Given the description of an element on the screen output the (x, y) to click on. 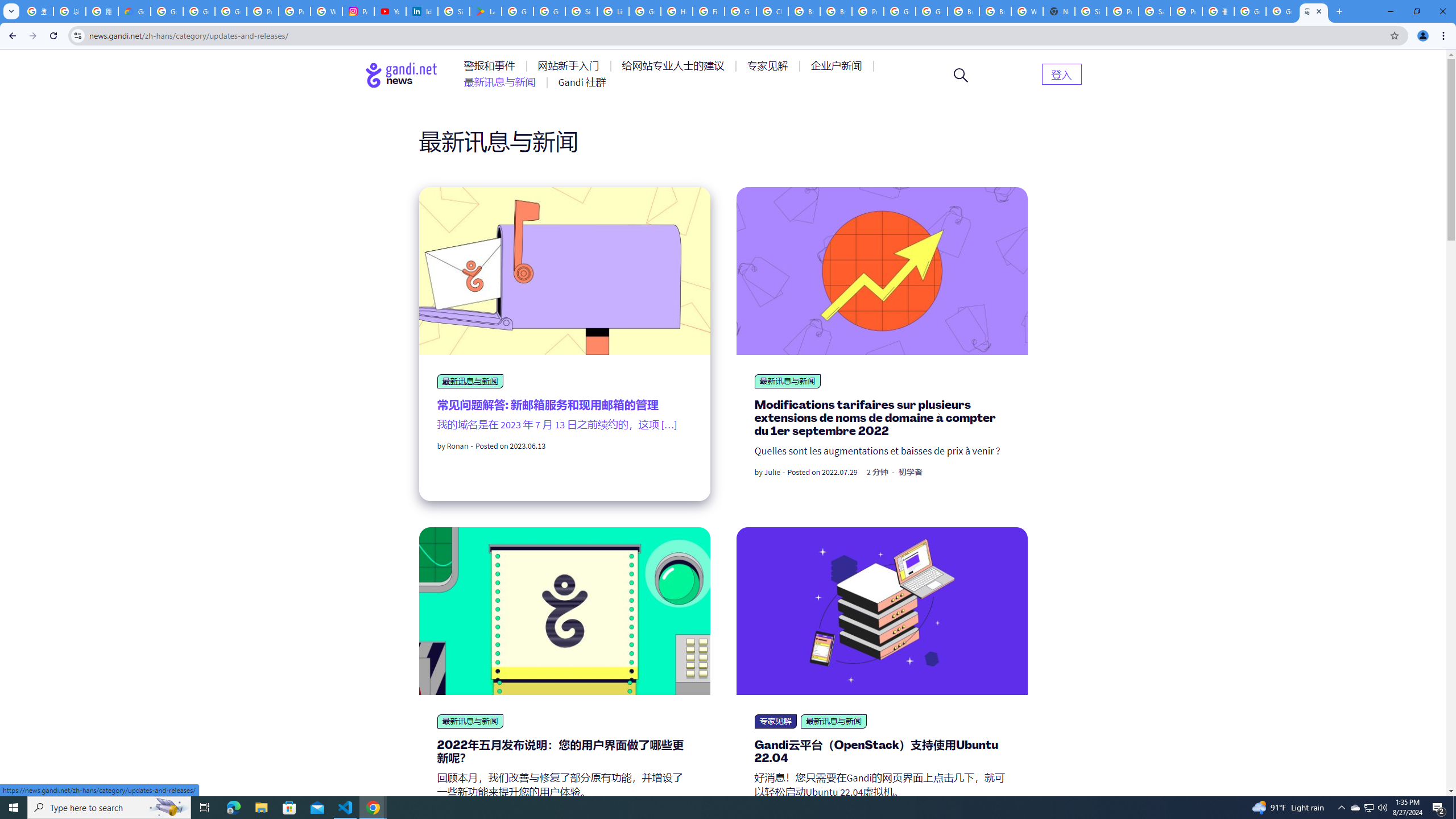
How do I create a new Google Account? - Google Account Help (676, 11)
Browse Chrome as a guest - Computer - Google Chrome Help (995, 11)
AutomationID: menu-item-77767 (581, 82)
Google Workspace - Specific Terms (549, 11)
